Given the description of an element on the screen output the (x, y) to click on. 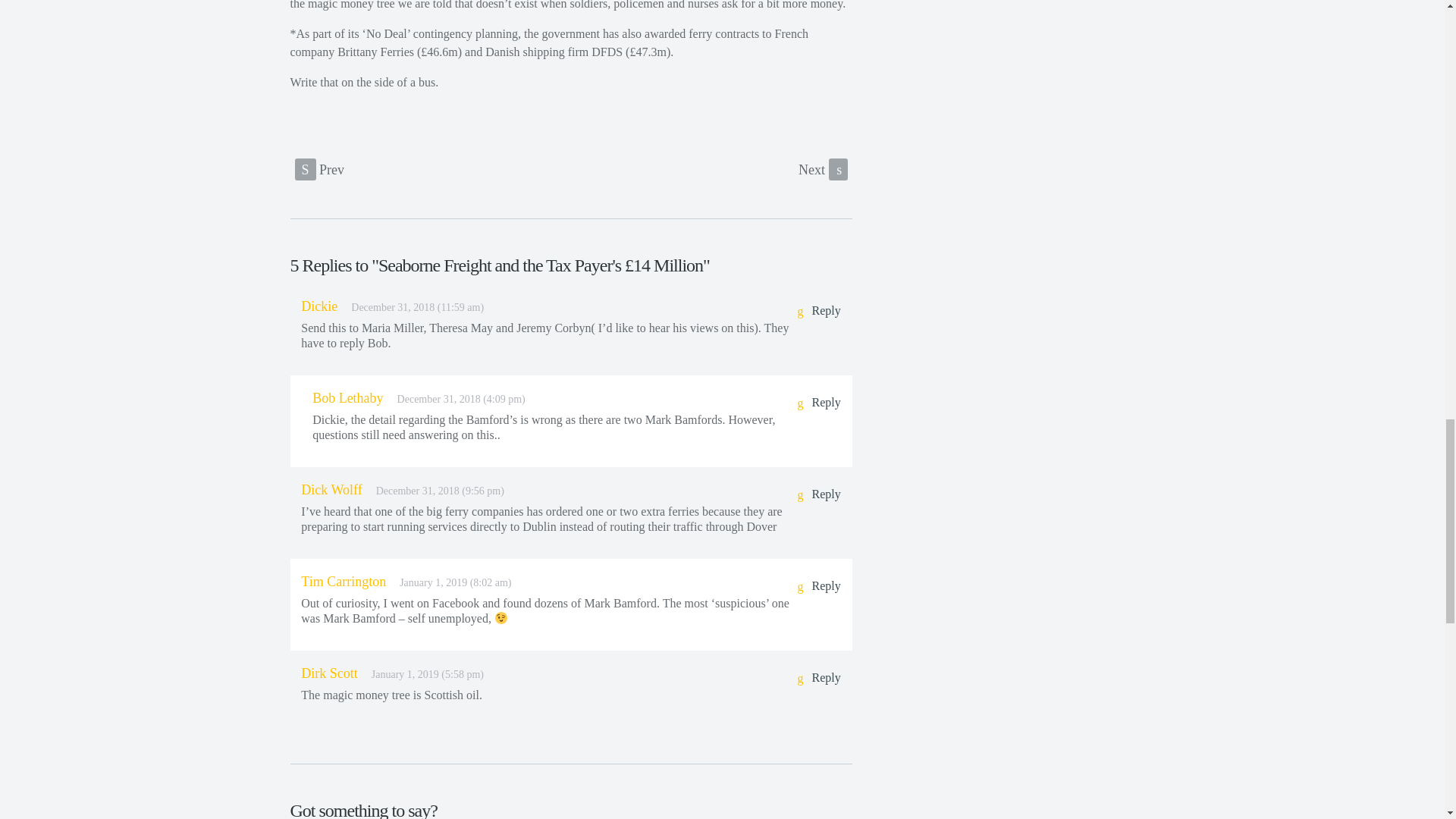
Next s (822, 169)
Reply (817, 311)
S Prev (318, 169)
Reply (817, 586)
Reply (817, 495)
Reply (817, 403)
Bob Lethaby (347, 397)
Reply (817, 678)
